Given the description of an element on the screen output the (x, y) to click on. 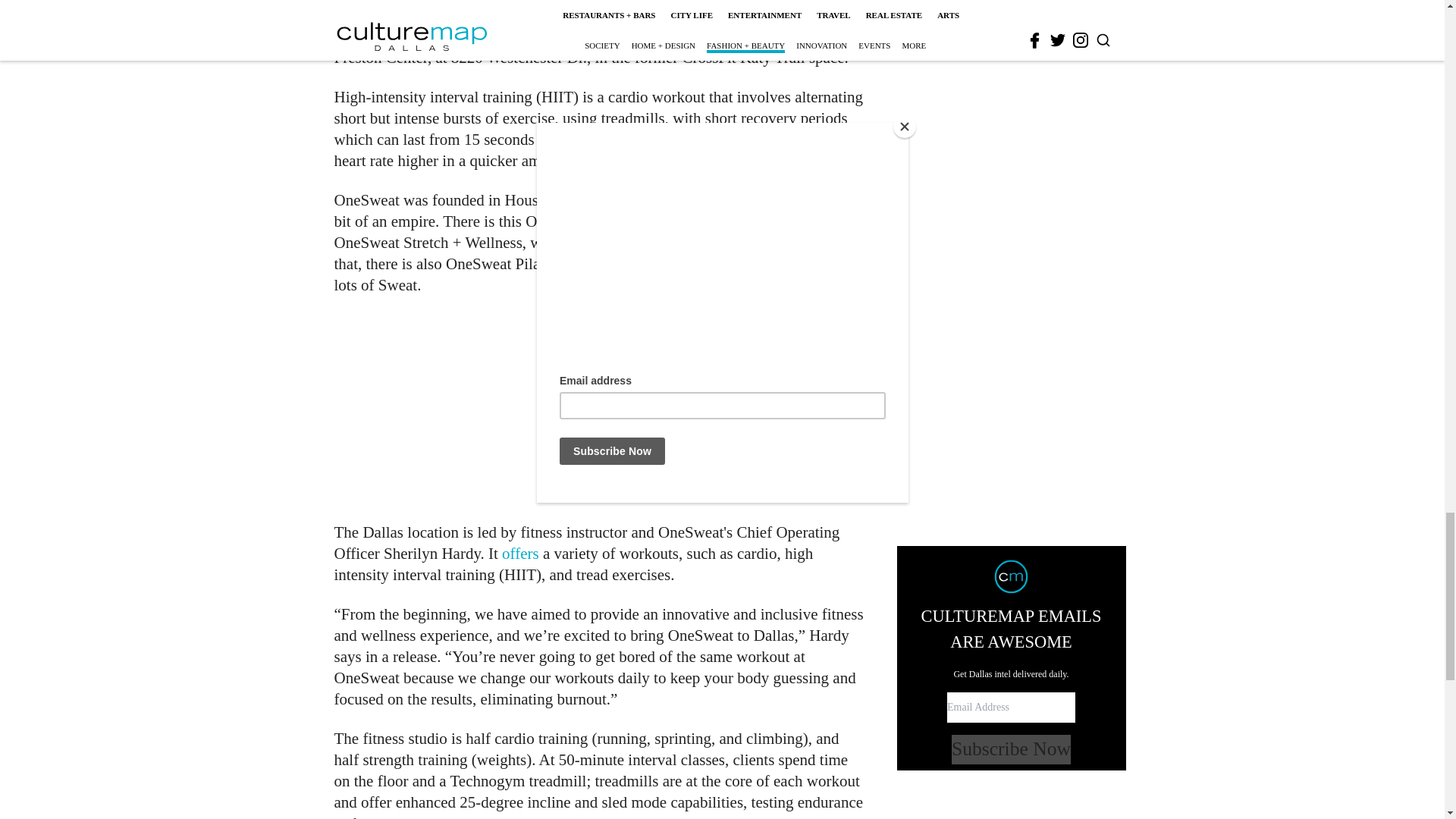
Subscribe Now (1011, 261)
3rd party ad content (1011, 13)
3rd party ad content (600, 408)
